Given the description of an element on the screen output the (x, y) to click on. 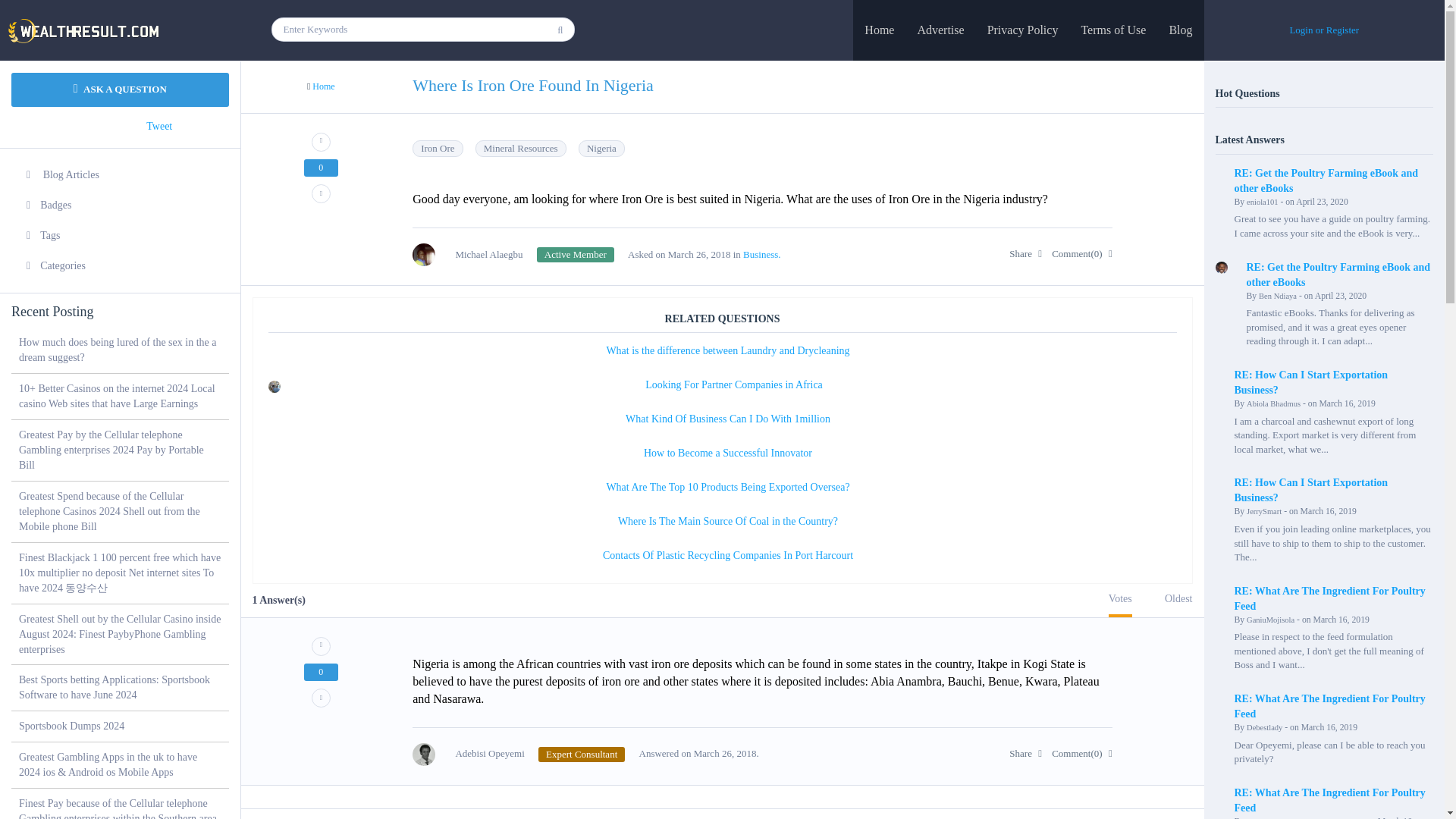
This is useful. (320, 141)
This is useful. (320, 646)
248 (575, 254)
3937 (581, 754)
This is not useful (320, 193)
This is not useful (320, 697)
